Given the description of an element on the screen output the (x, y) to click on. 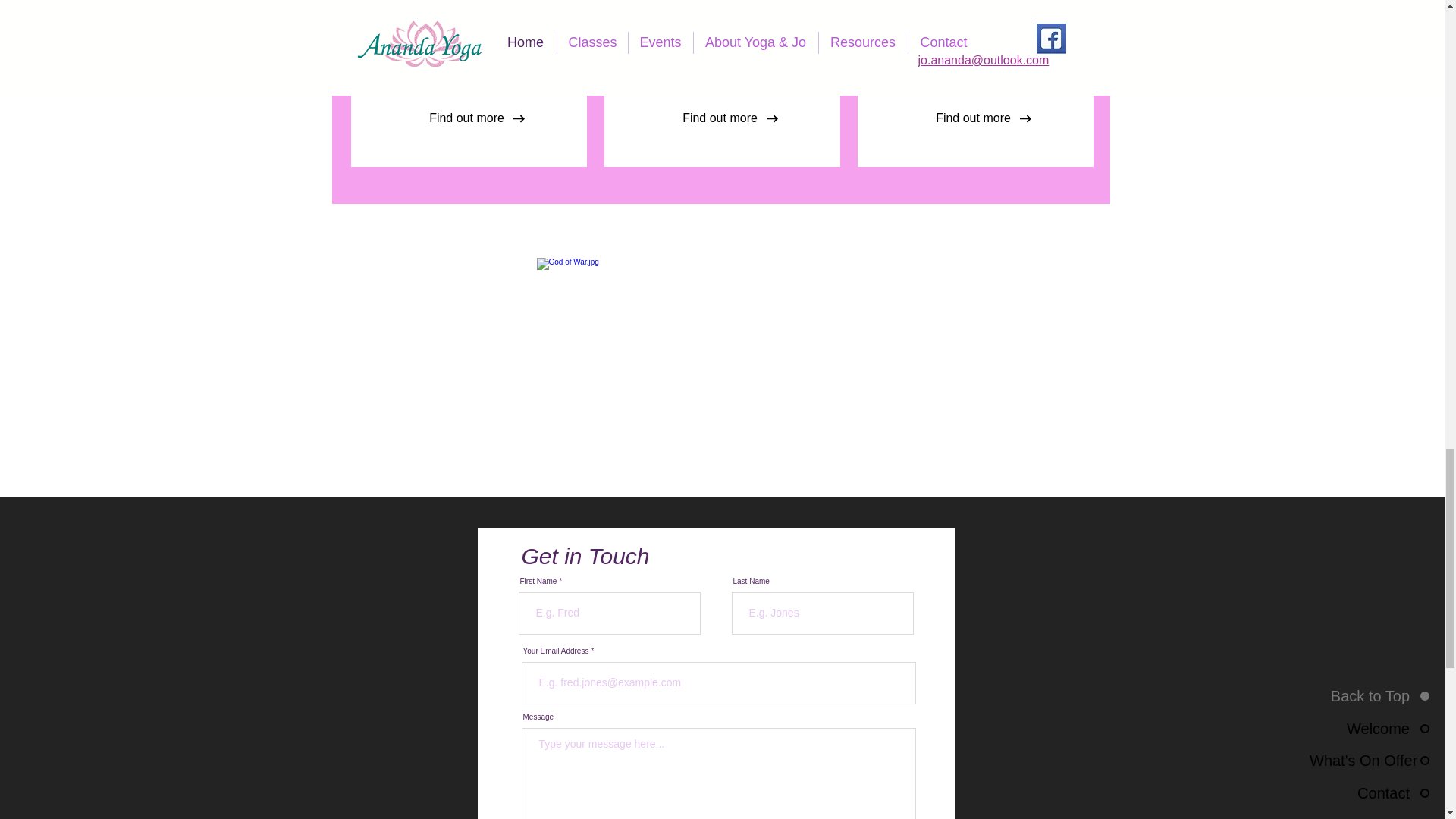
Find out more (719, 118)
Classes (468, 2)
Events (721, 2)
About (974, 2)
Find out more (972, 118)
Find out more (465, 118)
